Given the description of an element on the screen output the (x, y) to click on. 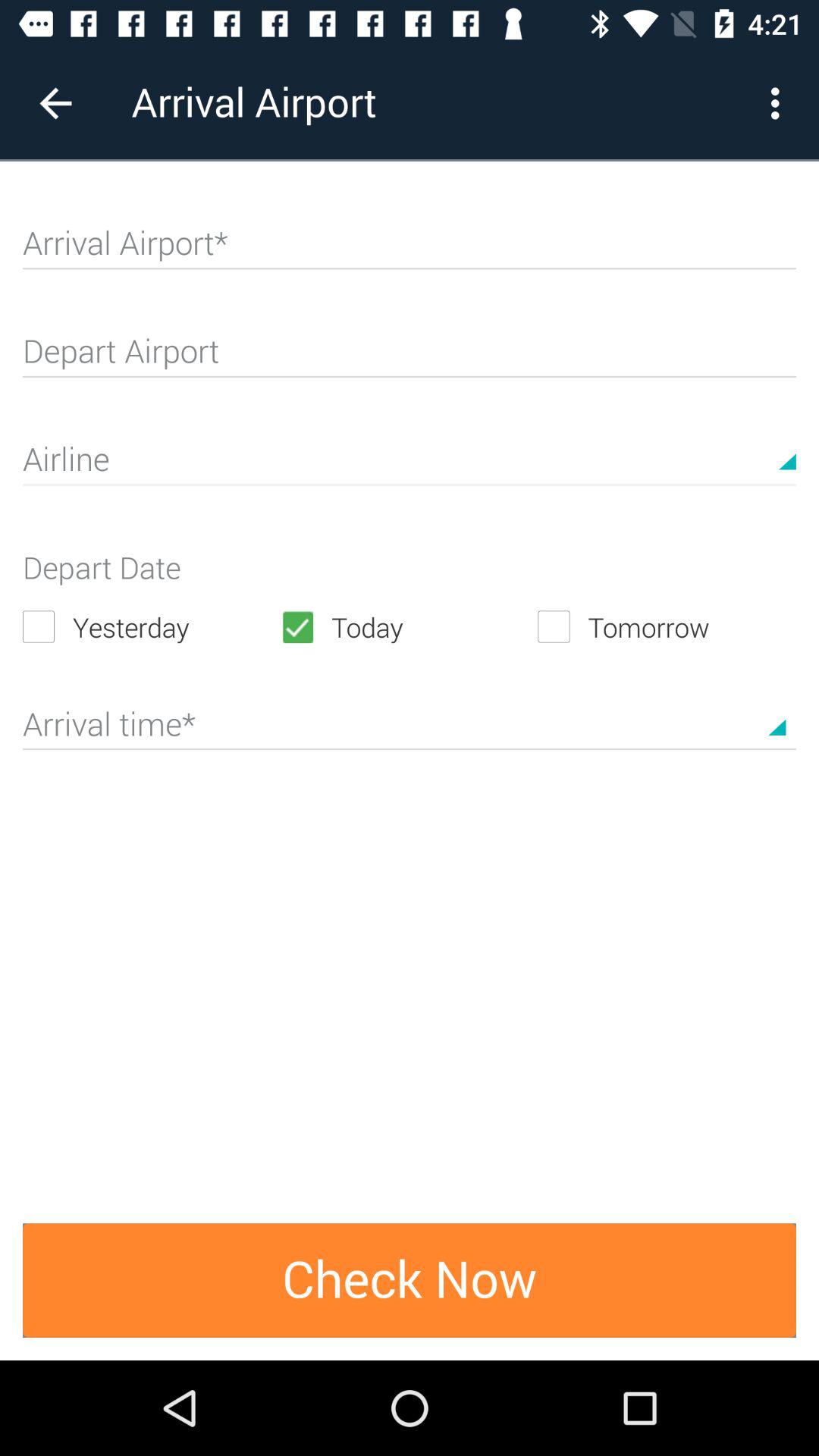
open item to the left of today (151, 626)
